Given the description of an element on the screen output the (x, y) to click on. 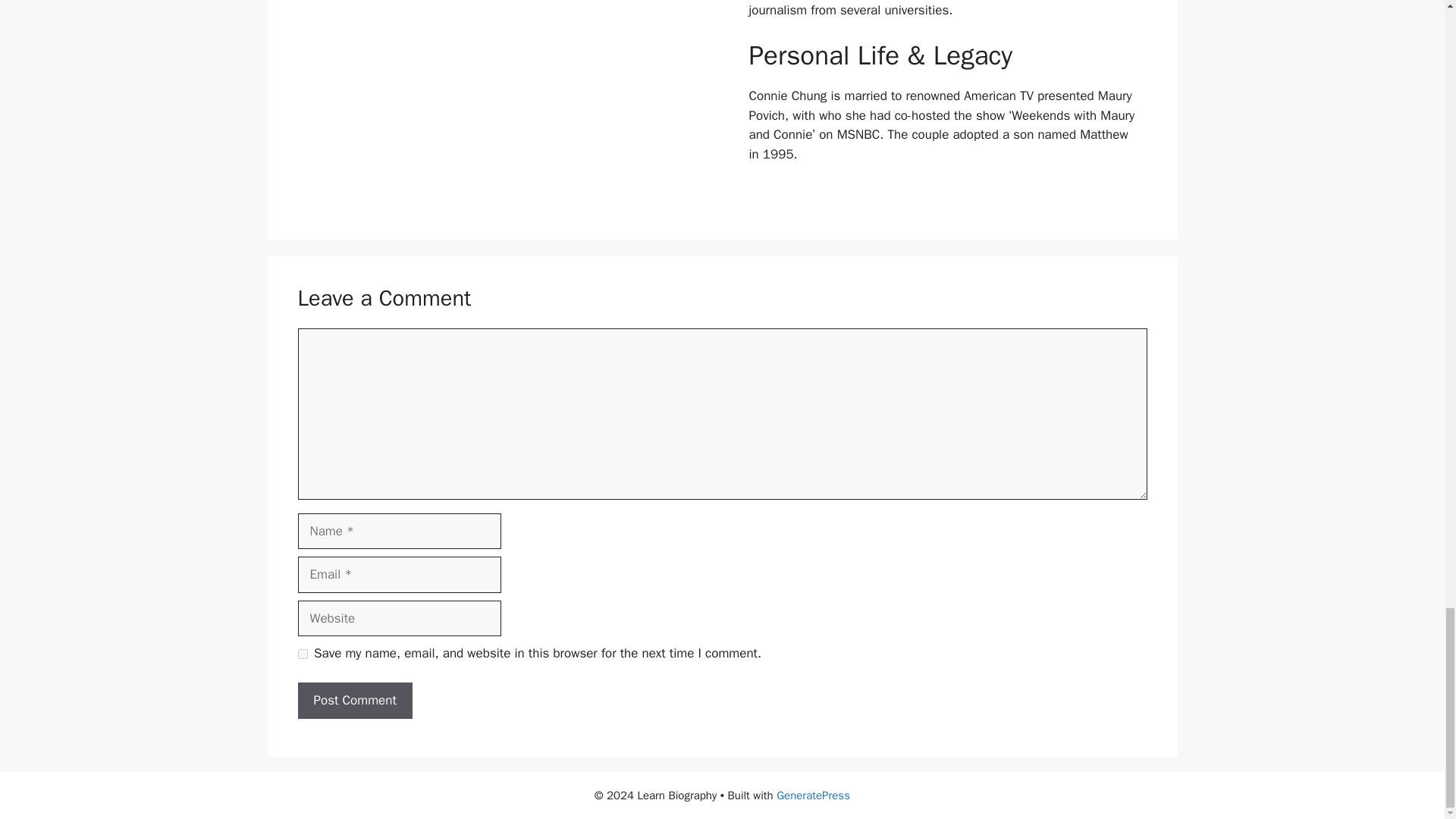
Post Comment (354, 700)
GeneratePress (813, 795)
yes (302, 654)
Post Comment (354, 700)
